Given the description of an element on the screen output the (x, y) to click on. 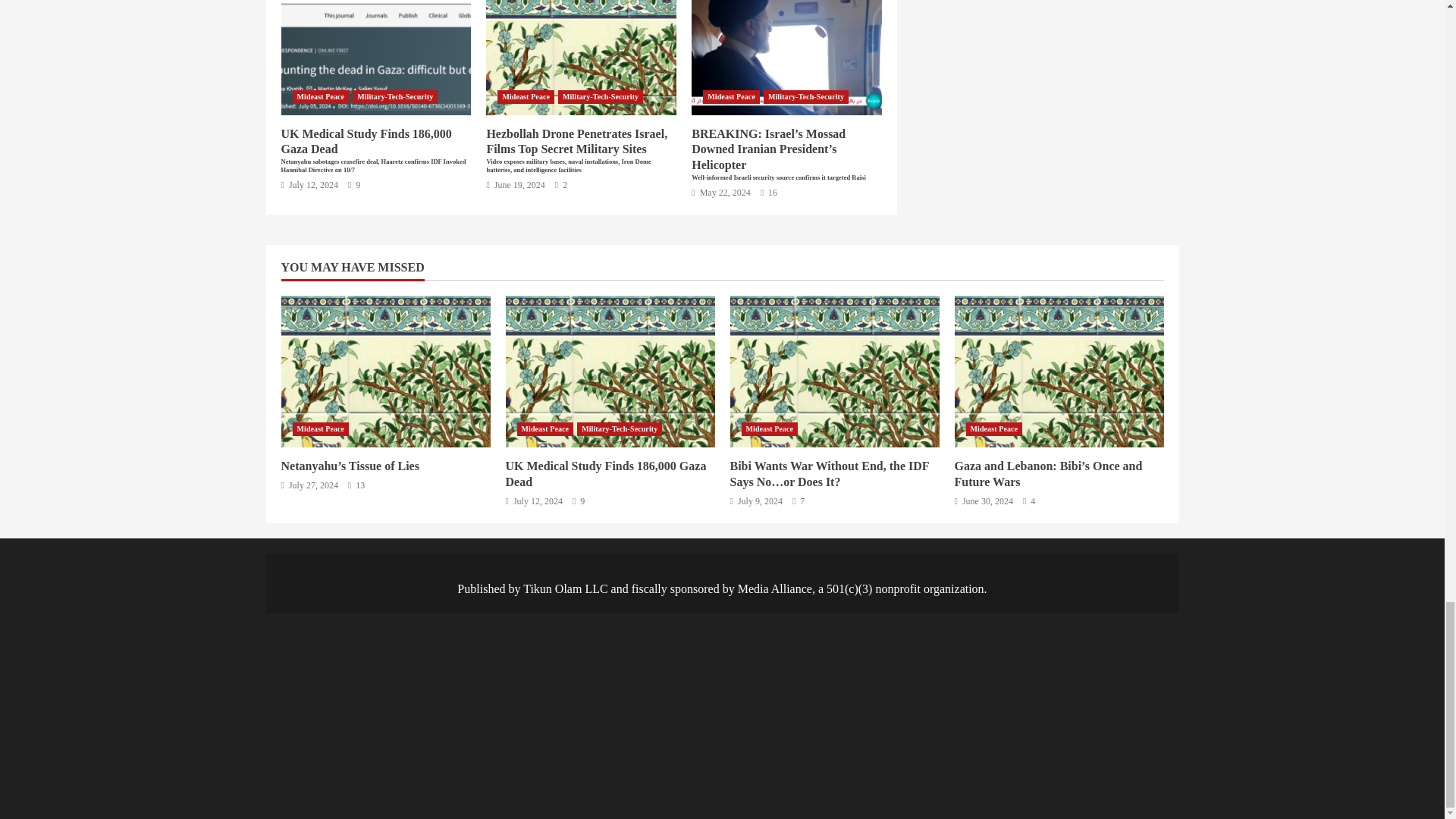
2 (560, 184)
9 (353, 184)
Military-Tech-Security (805, 97)
Military-Tech-Security (395, 97)
Mideast Peace (731, 97)
Mideast Peace (525, 97)
Military-Tech-Security (600, 97)
Mideast Peace (320, 97)
